Given the description of an element on the screen output the (x, y) to click on. 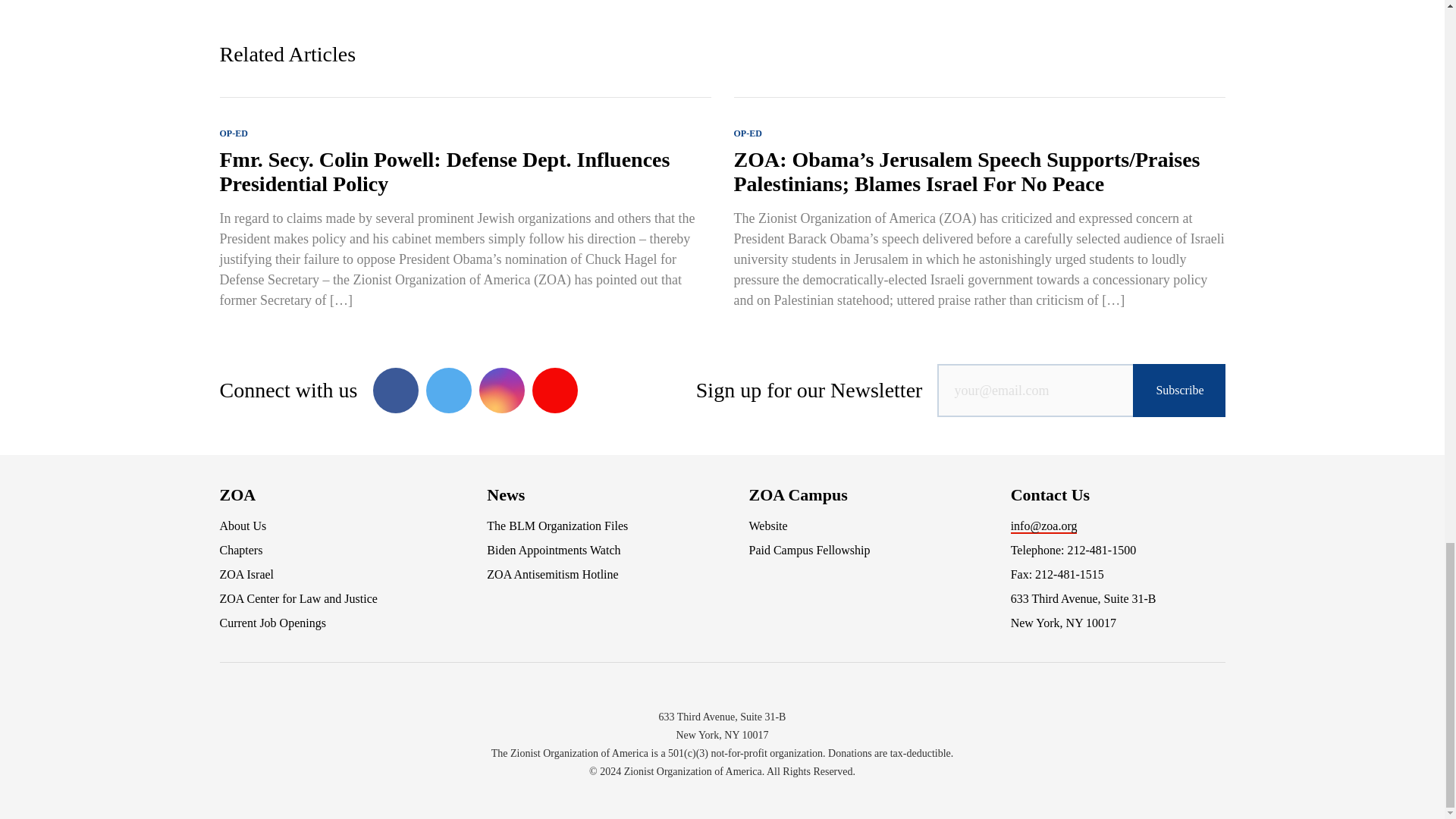
Subscribe (1178, 389)
